Given the description of an element on the screen output the (x, y) to click on. 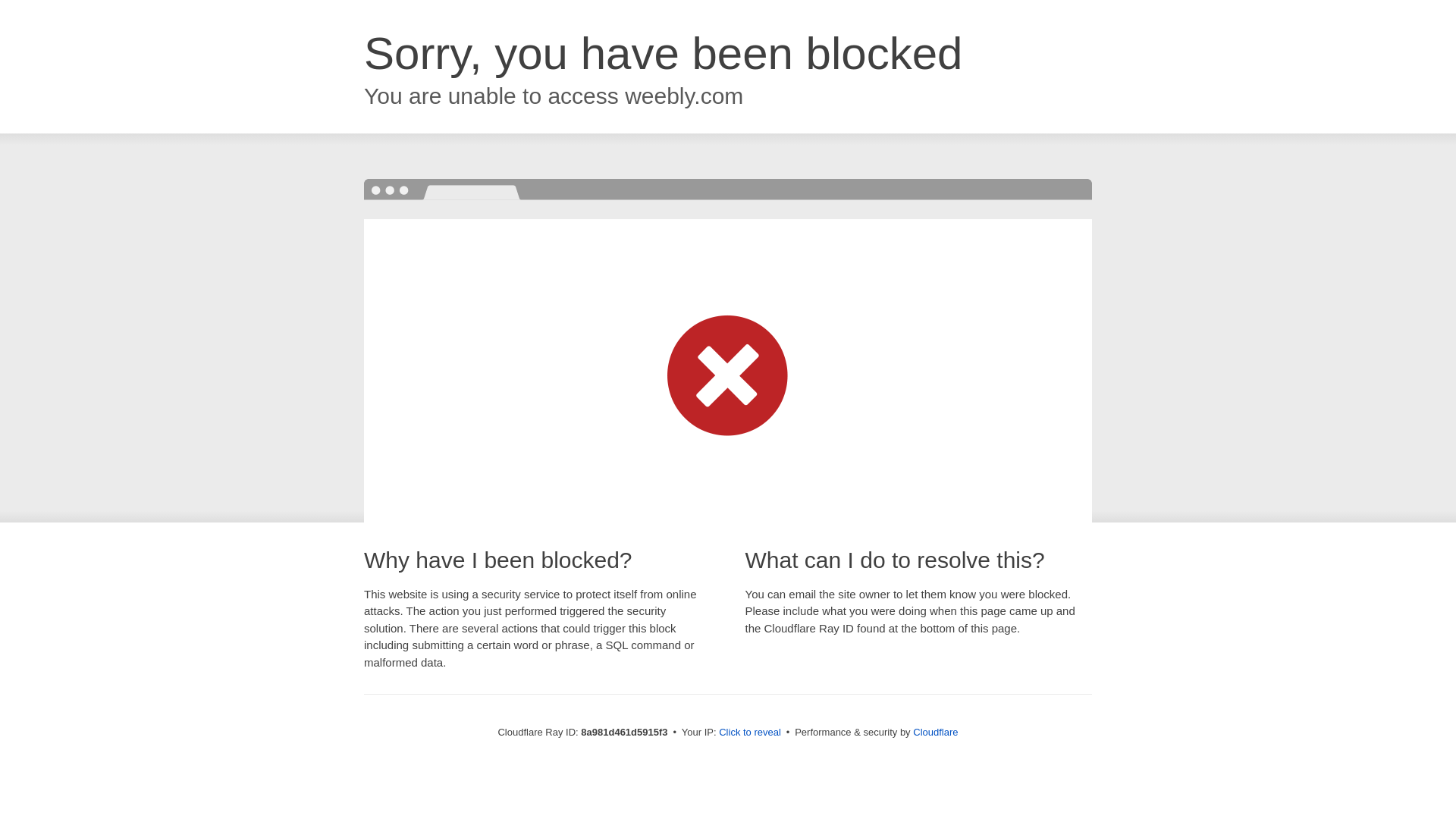
Click to reveal (749, 732)
Cloudflare (935, 731)
